Given the description of an element on the screen output the (x, y) to click on. 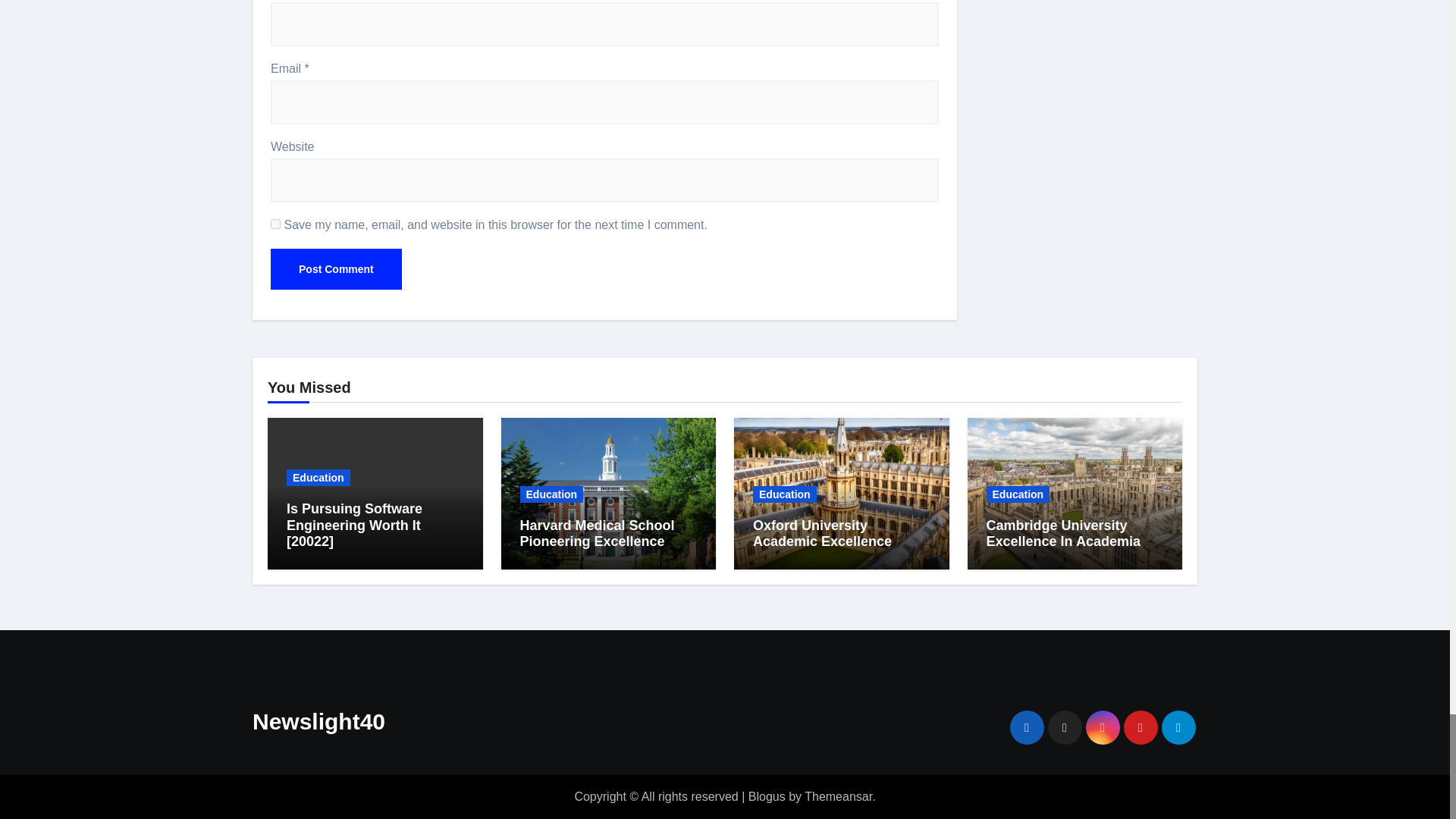
Post Comment (335, 268)
Permalink to: Harvard Medical School Pioneering Excellence (597, 533)
yes (275, 224)
